Given the description of an element on the screen output the (x, y) to click on. 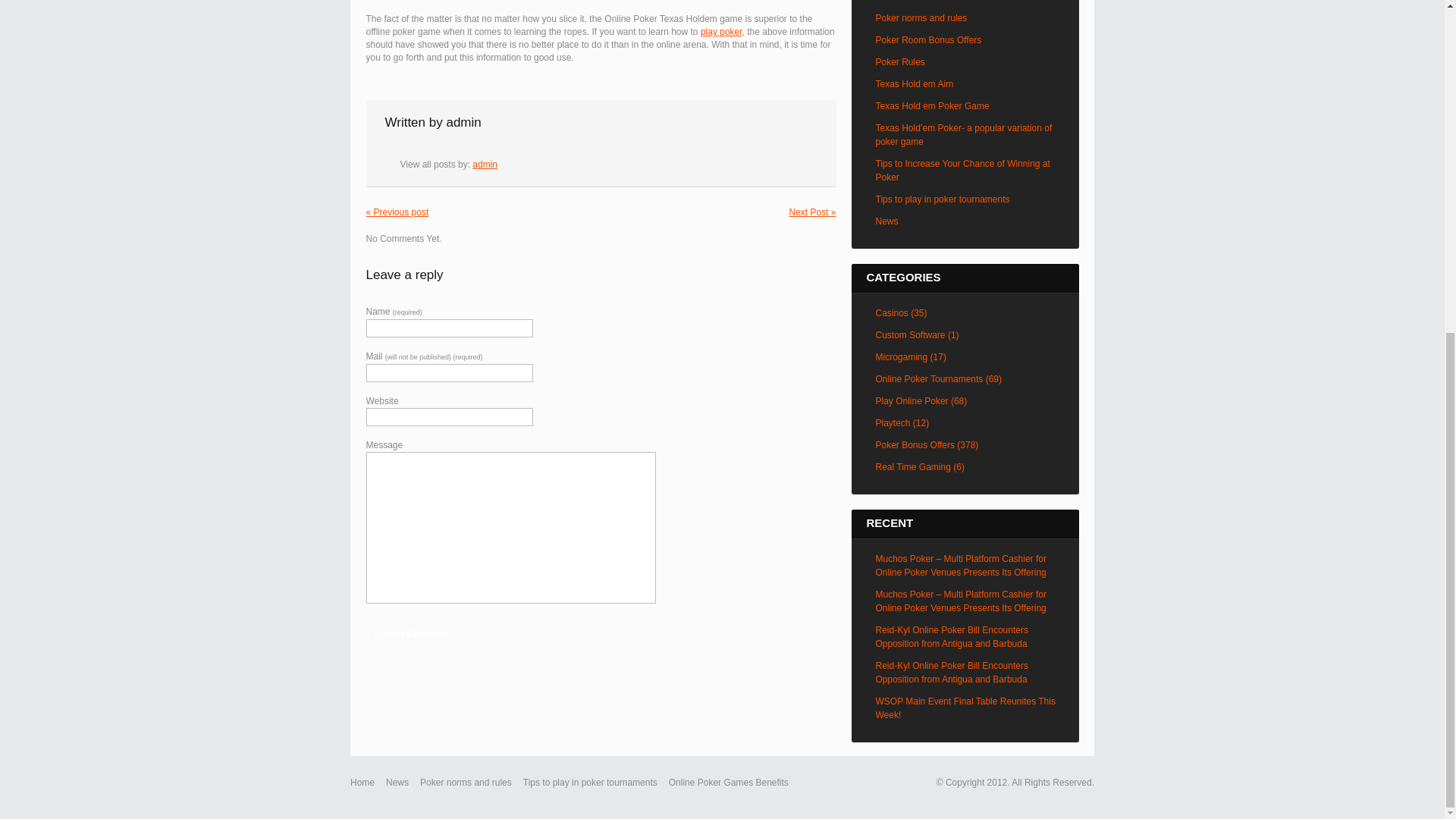
play poker (721, 31)
admin (484, 163)
Posts by admin (462, 122)
Submit Comment (410, 633)
admin (462, 122)
Submit Comment (410, 633)
Posts by admin (484, 163)
